Given the description of an element on the screen output the (x, y) to click on. 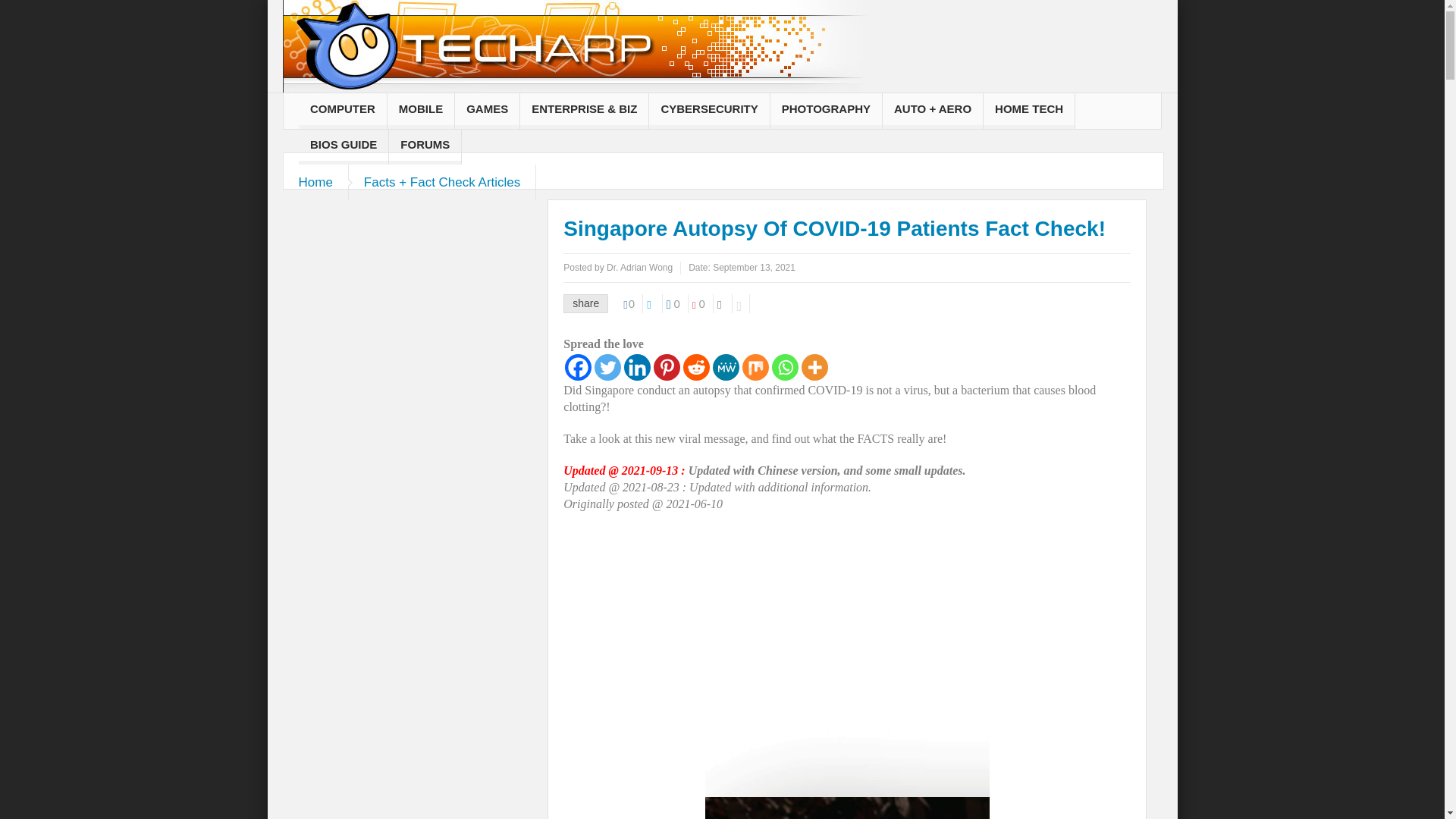
Dr. Adrian Wong (639, 267)
Whatsapp (784, 366)
MOBILE (420, 110)
BIOS GUIDE (343, 146)
CYBERSECURITY (708, 110)
Facebook (577, 366)
HOME TECH (1029, 110)
0 (703, 303)
COMPUTER (342, 110)
Tech ARP (574, 55)
0 (677, 303)
Home (316, 181)
Linkedin (637, 366)
Mix (755, 366)
PHOTOGRAPHY (826, 110)
